Given the description of an element on the screen output the (x, y) to click on. 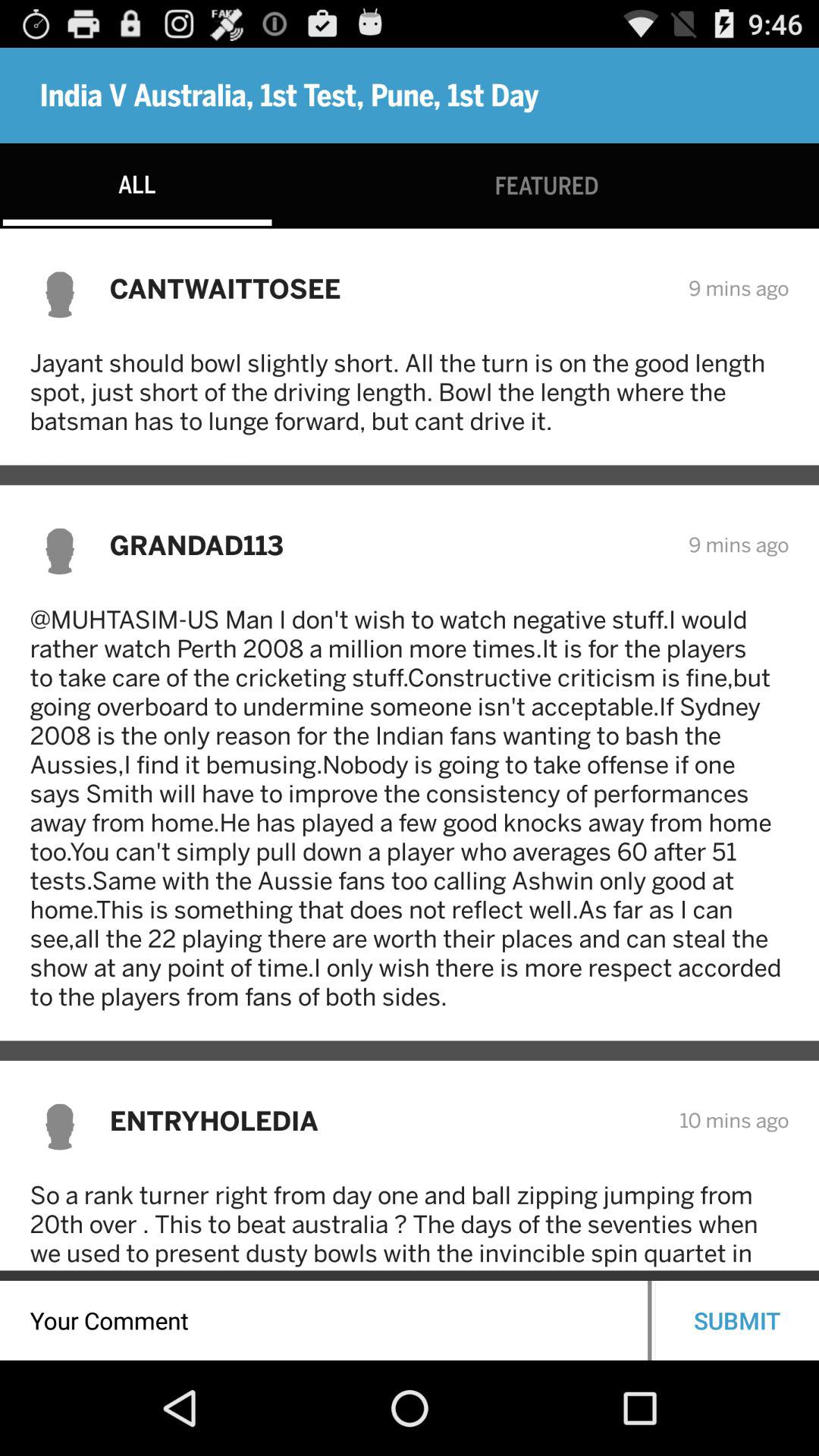
choose submit icon (737, 1320)
